Given the description of an element on the screen output the (x, y) to click on. 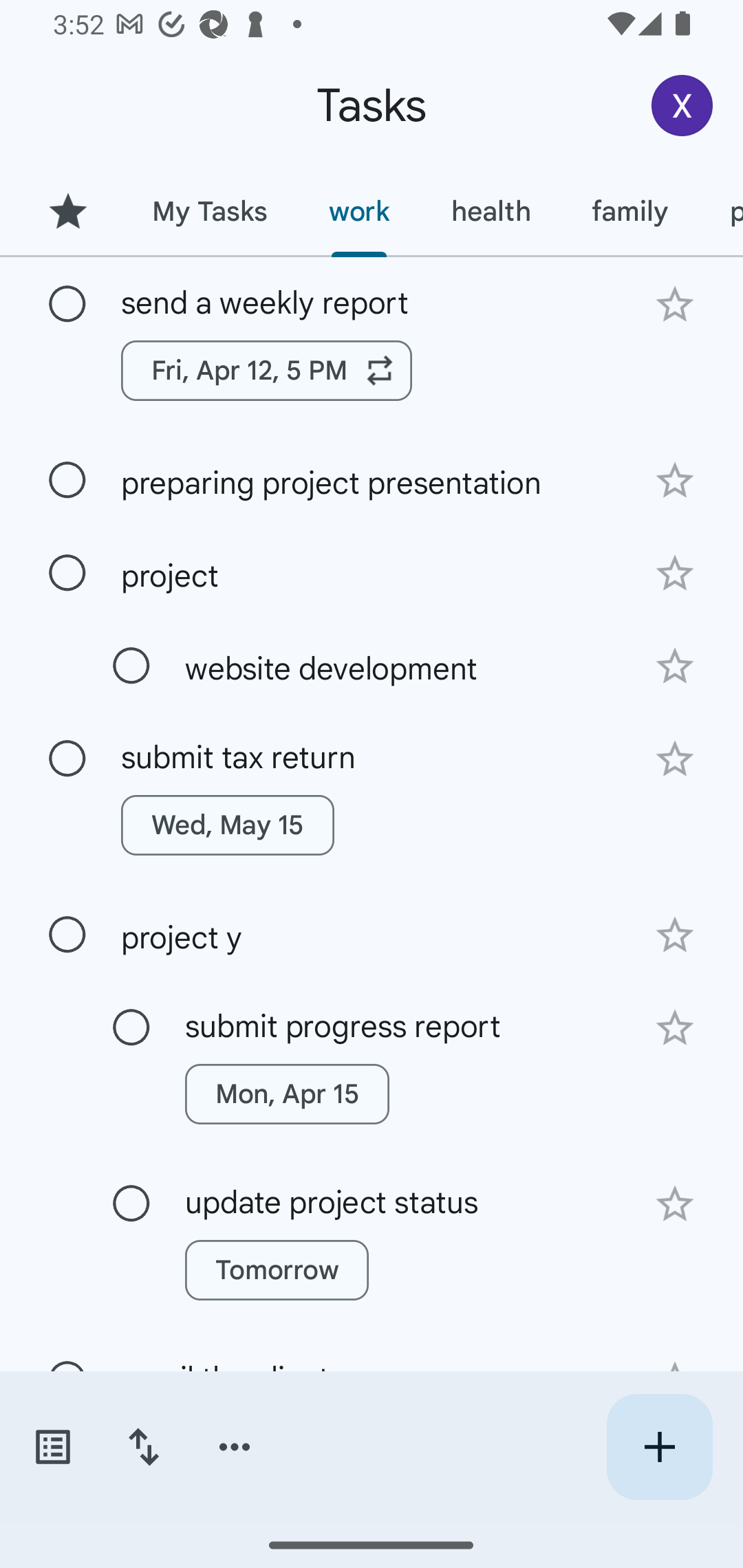
Starred (67, 211)
My Tasks (209, 211)
health (490, 211)
family (629, 211)
Add star (674, 303)
Mark as complete (67, 304)
Fri, Apr 12, 5 PM (266, 369)
Add star (674, 480)
Mark as complete (67, 480)
Add star (674, 573)
Mark as complete (67, 572)
Add star (674, 665)
Mark as complete (131, 666)
Add star (674, 758)
Mark as complete (67, 759)
Wed, May 15 (227, 824)
Add star (674, 935)
Mark as complete (67, 935)
Add star (674, 1028)
Mark as complete (131, 1027)
Mon, Apr 15 (287, 1093)
Add star (674, 1203)
Mark as complete (131, 1204)
Tomorrow (276, 1269)
Switch task lists (52, 1447)
Create new task (659, 1446)
Change sort order (143, 1446)
More options (234, 1446)
